Given the description of an element on the screen output the (x, y) to click on. 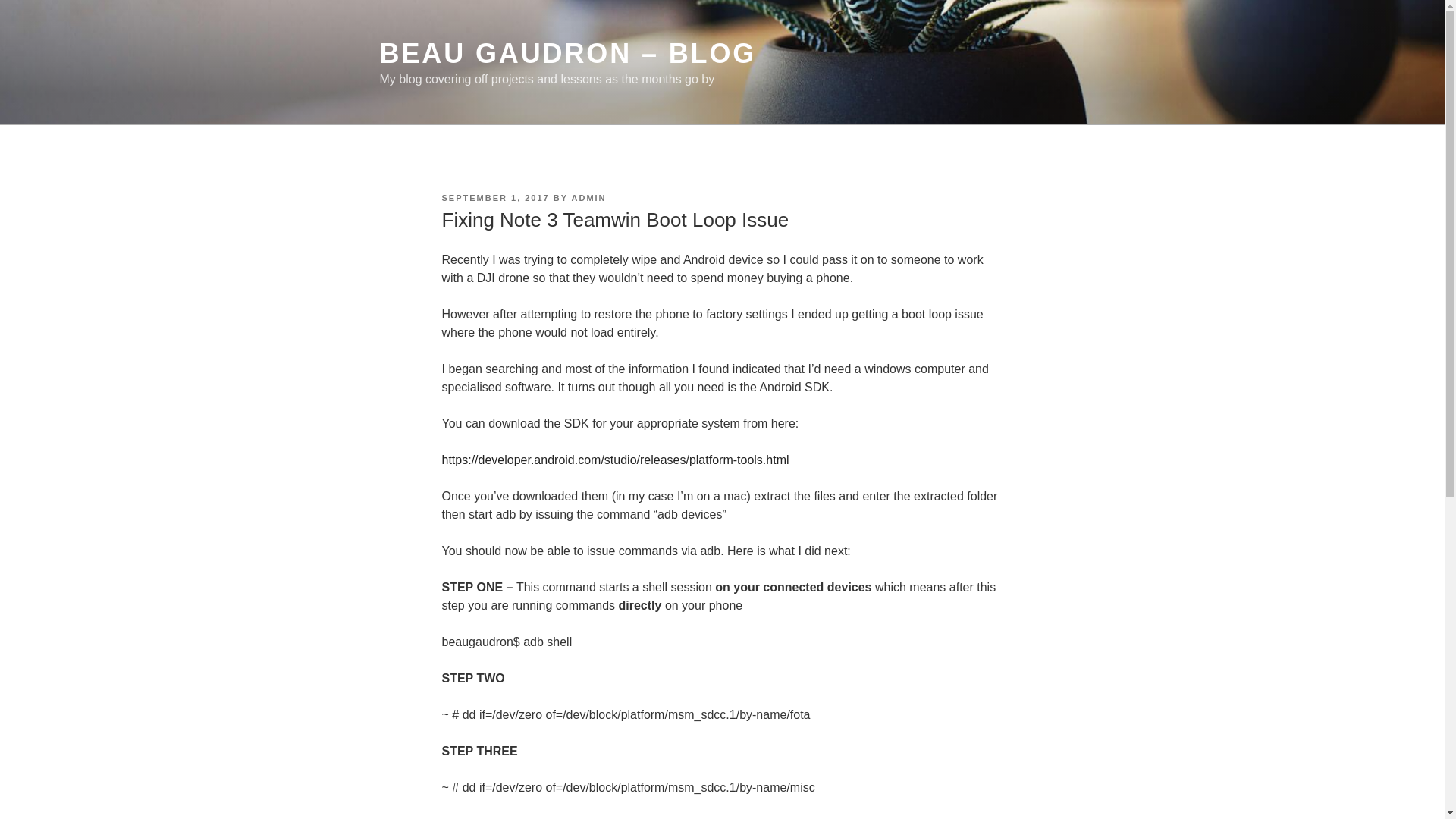
ADMIN (589, 197)
SEPTEMBER 1, 2017 (494, 197)
